Given the description of an element on the screen output the (x, y) to click on. 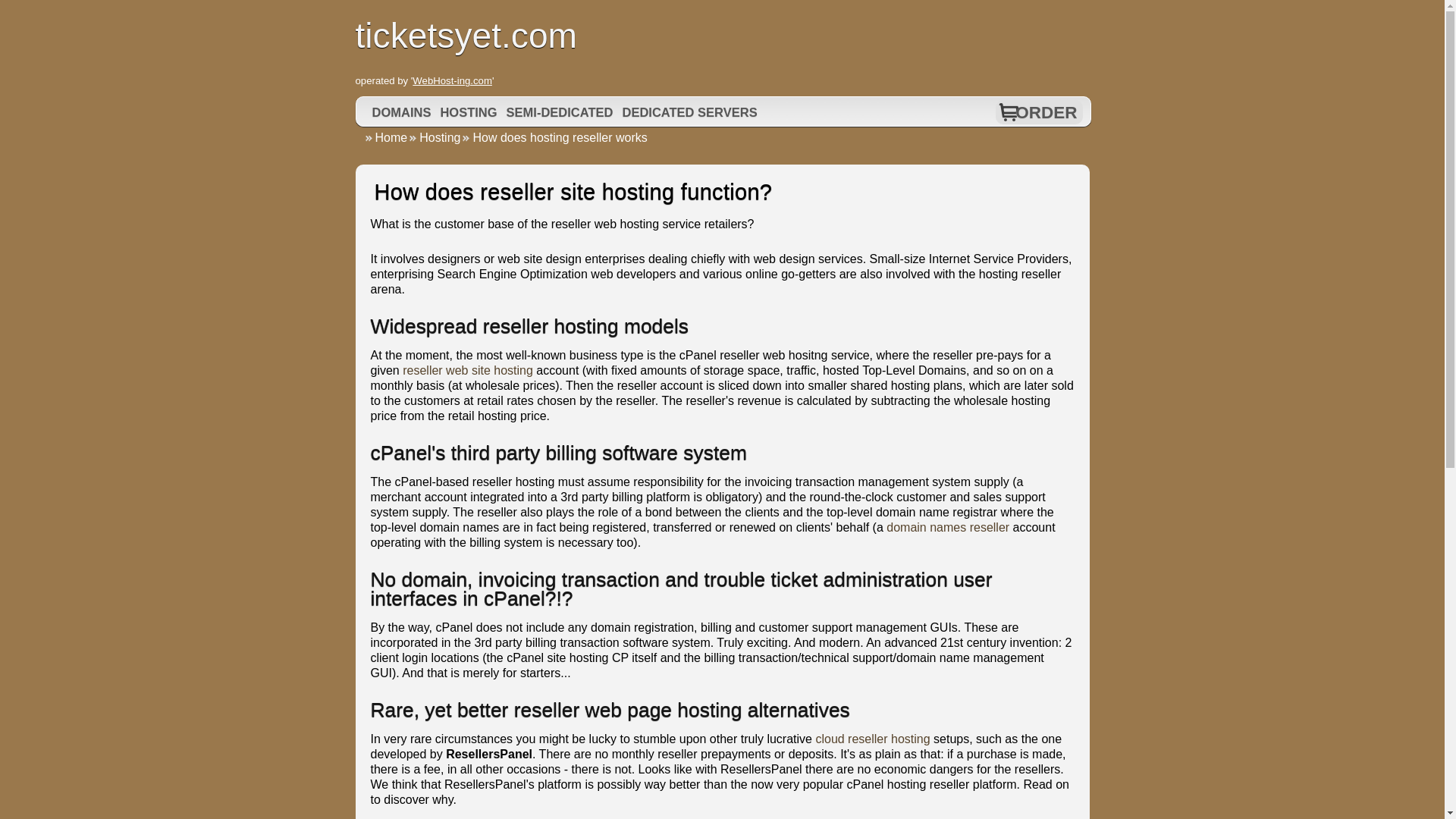
DOMAINS (401, 112)
Home (384, 137)
reseller web site hosting (467, 369)
WebHost-ing.com (452, 80)
DEDICATED SERVERS (688, 112)
Hosting (433, 137)
SEMI-DEDICATED (559, 112)
domain names reseller (947, 526)
cloud reseller hosting (872, 738)
HOSTING (467, 112)
ORDER (1045, 112)
